Given the description of an element on the screen output the (x, y) to click on. 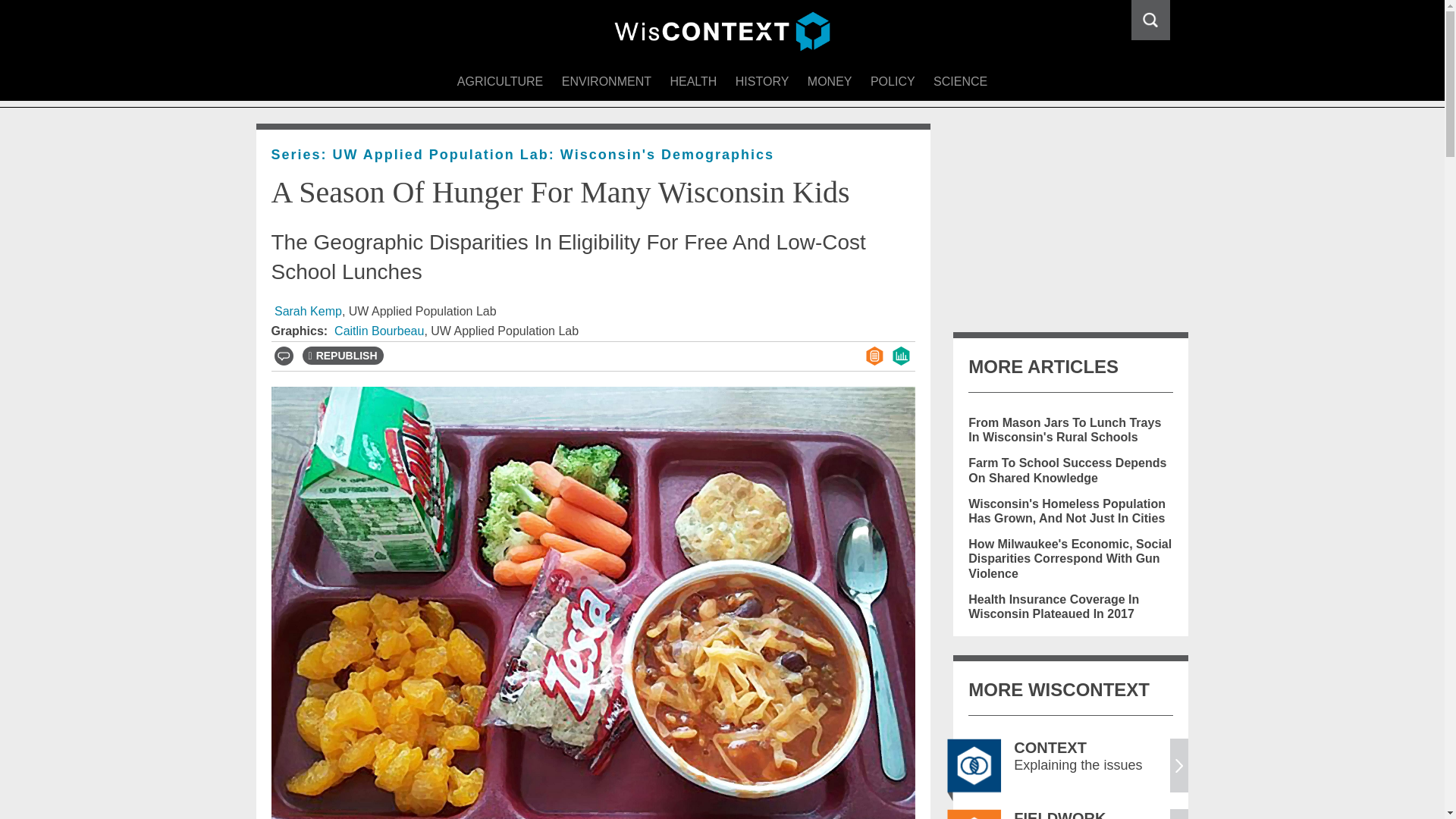
Environment (606, 81)
Home (721, 31)
Series: UW Applied Population Lab: Wisconsin's Demographics (522, 154)
Policy (893, 81)
Data (901, 355)
REPUBLISH (341, 355)
HEALTH (692, 81)
HISTORY (762, 81)
Fieldwork (974, 814)
